Given the description of an element on the screen output the (x, y) to click on. 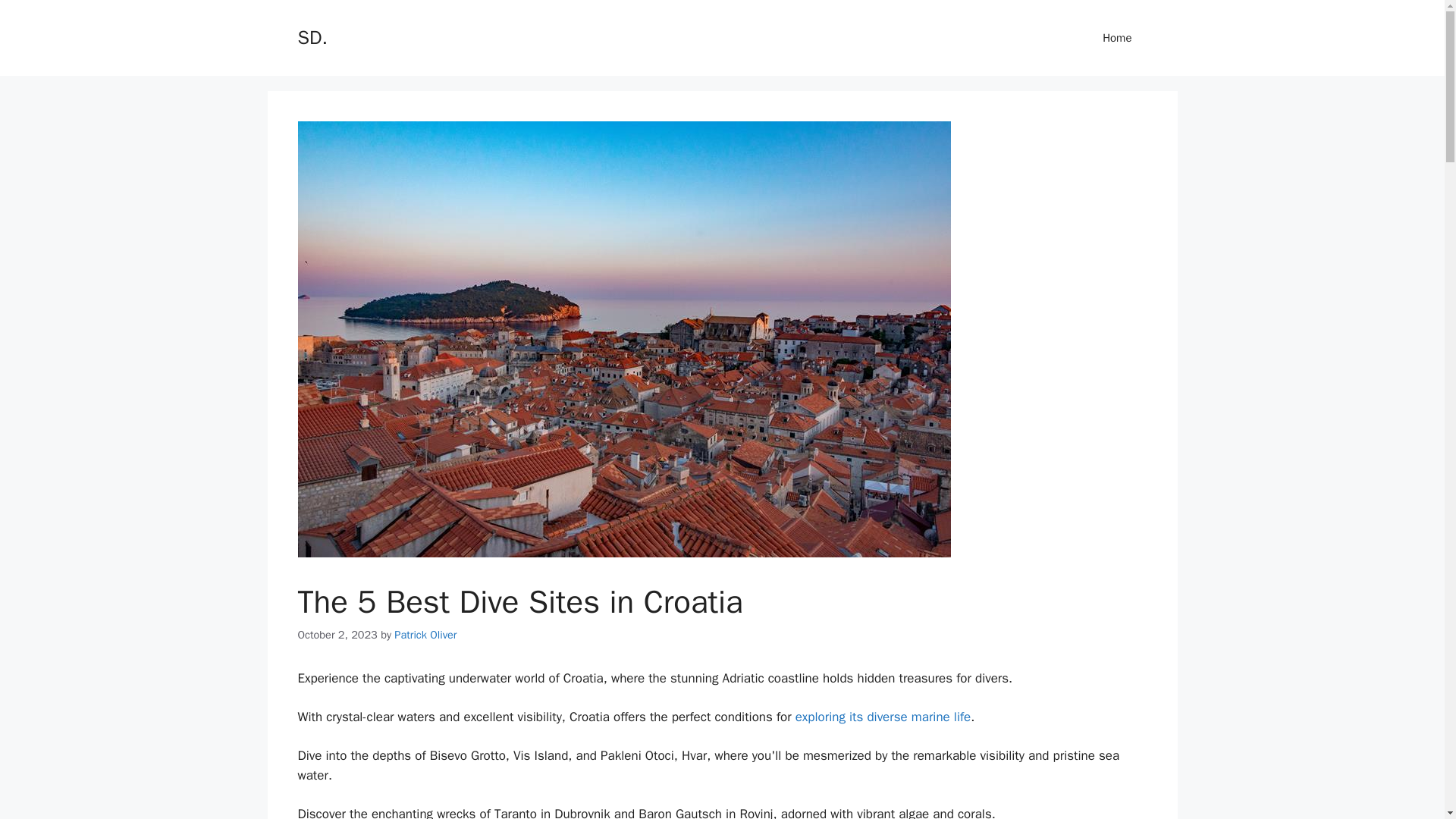
exploring its diverse marine life (882, 716)
Patrick Oliver (425, 634)
SD. (311, 37)
Home (1117, 37)
View all posts by Patrick Oliver (425, 634)
